Given the description of an element on the screen output the (x, y) to click on. 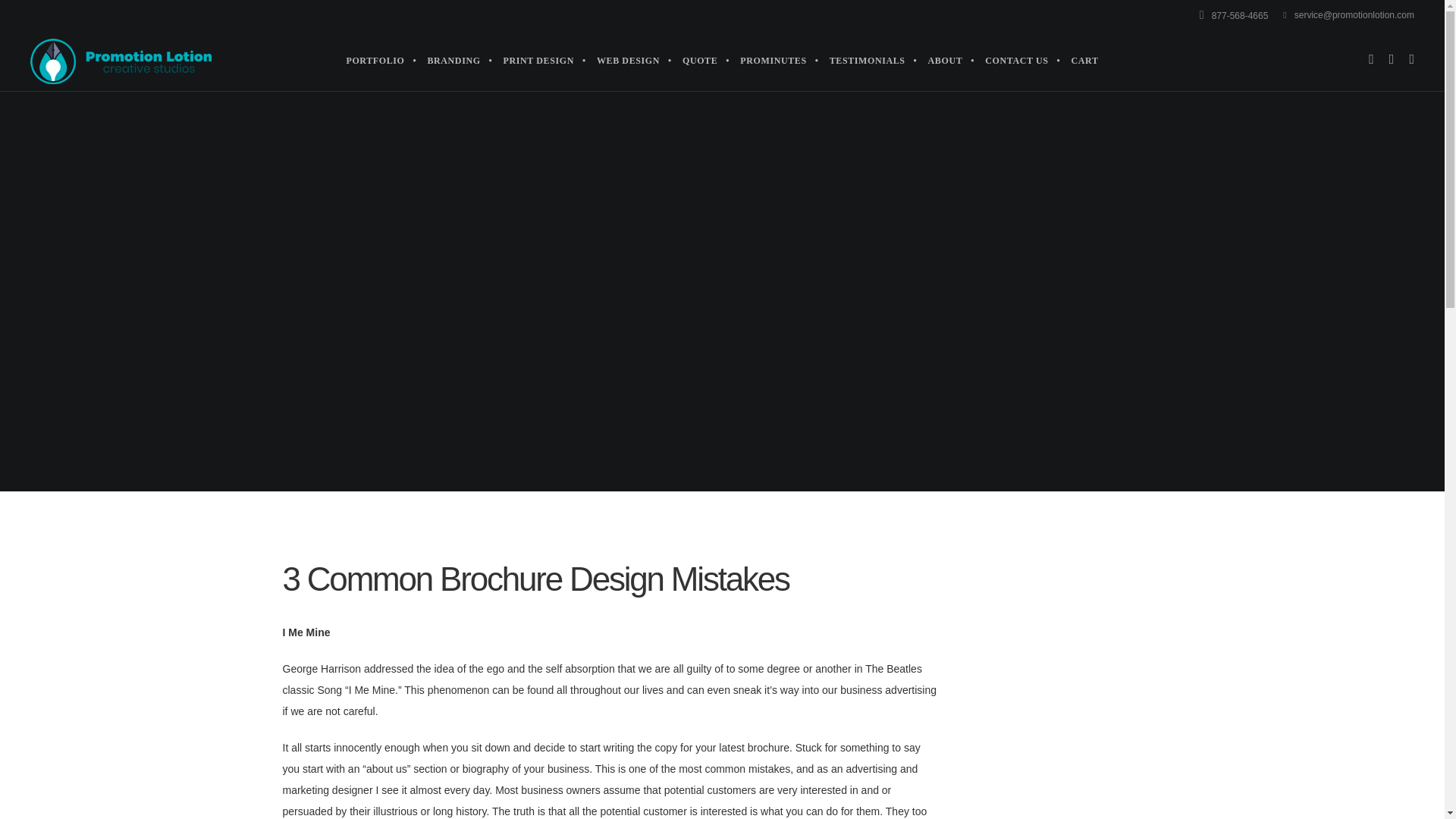
QUOTE (700, 60)
BRANDING (453, 60)
TESTIMONIALS (867, 60)
WEB DESIGN (628, 60)
PORTFOLIO (374, 60)
PROMINUTES (772, 60)
PRINT DESIGN (538, 60)
CONTACT US (1016, 60)
ABOUT (945, 60)
